Given the description of an element on the screen output the (x, y) to click on. 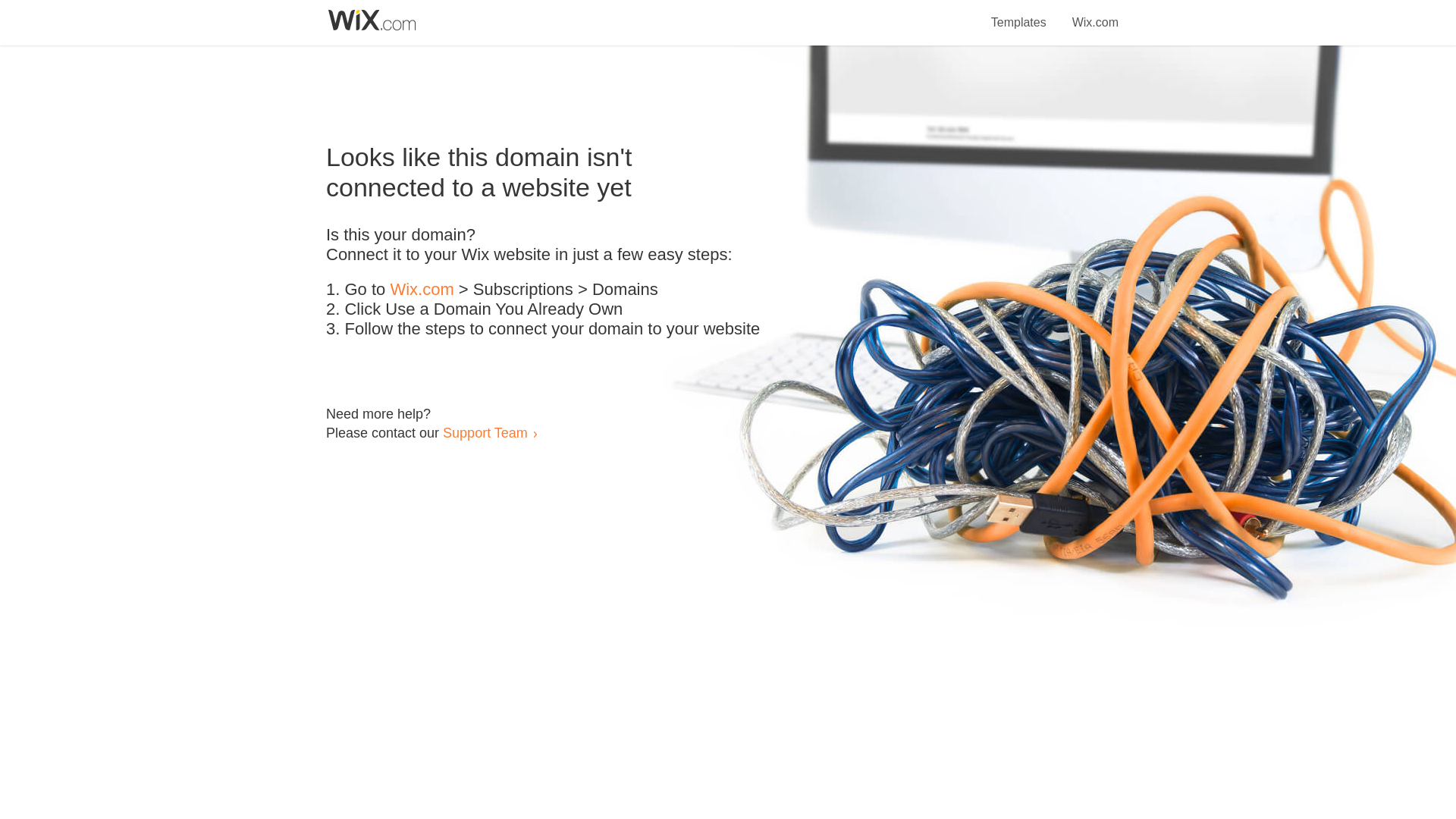
Wix.com (1095, 14)
Templates (1018, 14)
Support Team (484, 432)
Wix.com (421, 289)
